Given the description of an element on the screen output the (x, y) to click on. 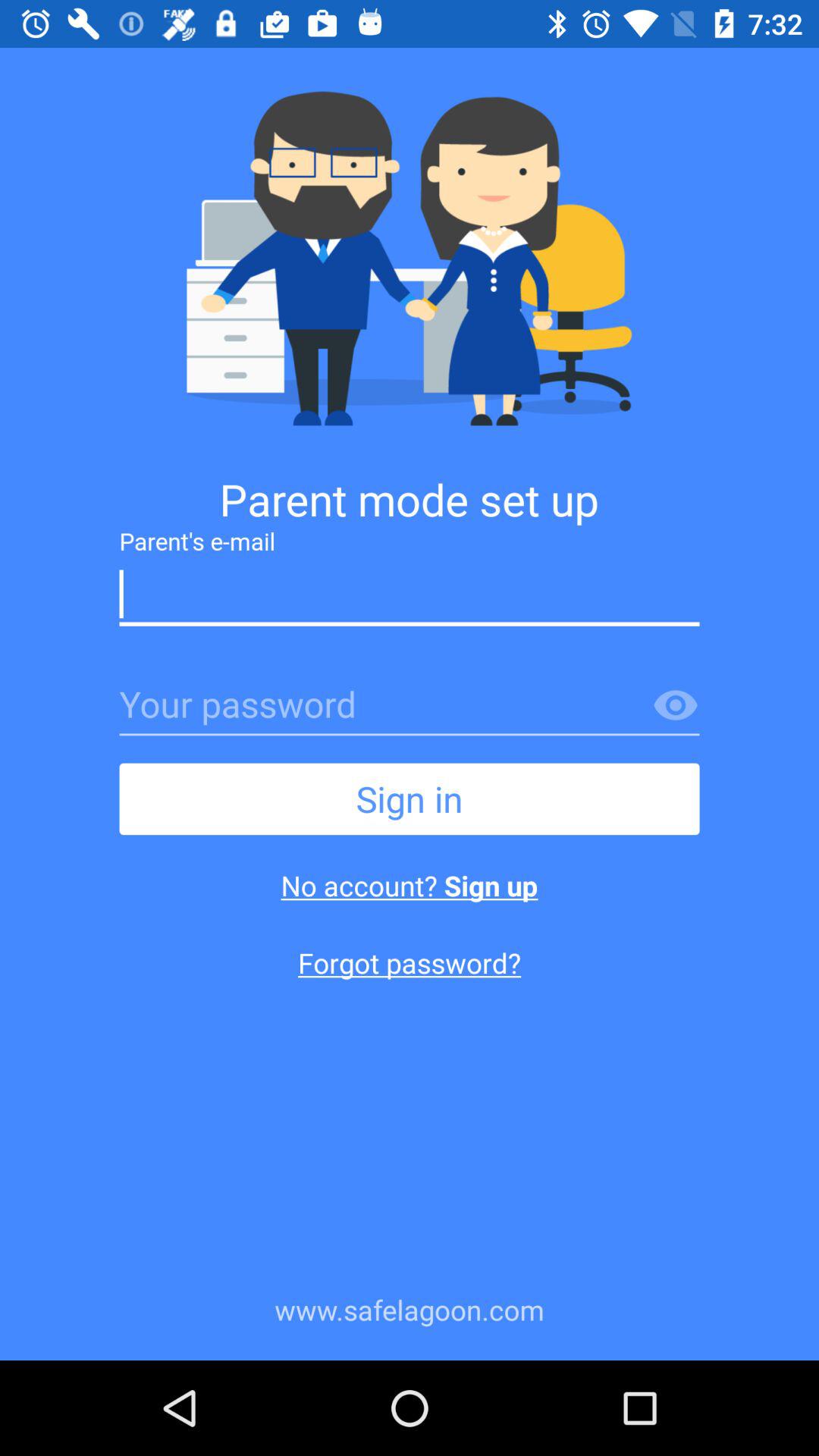
enter password and be watched (675, 705)
